Given the description of an element on the screen output the (x, y) to click on. 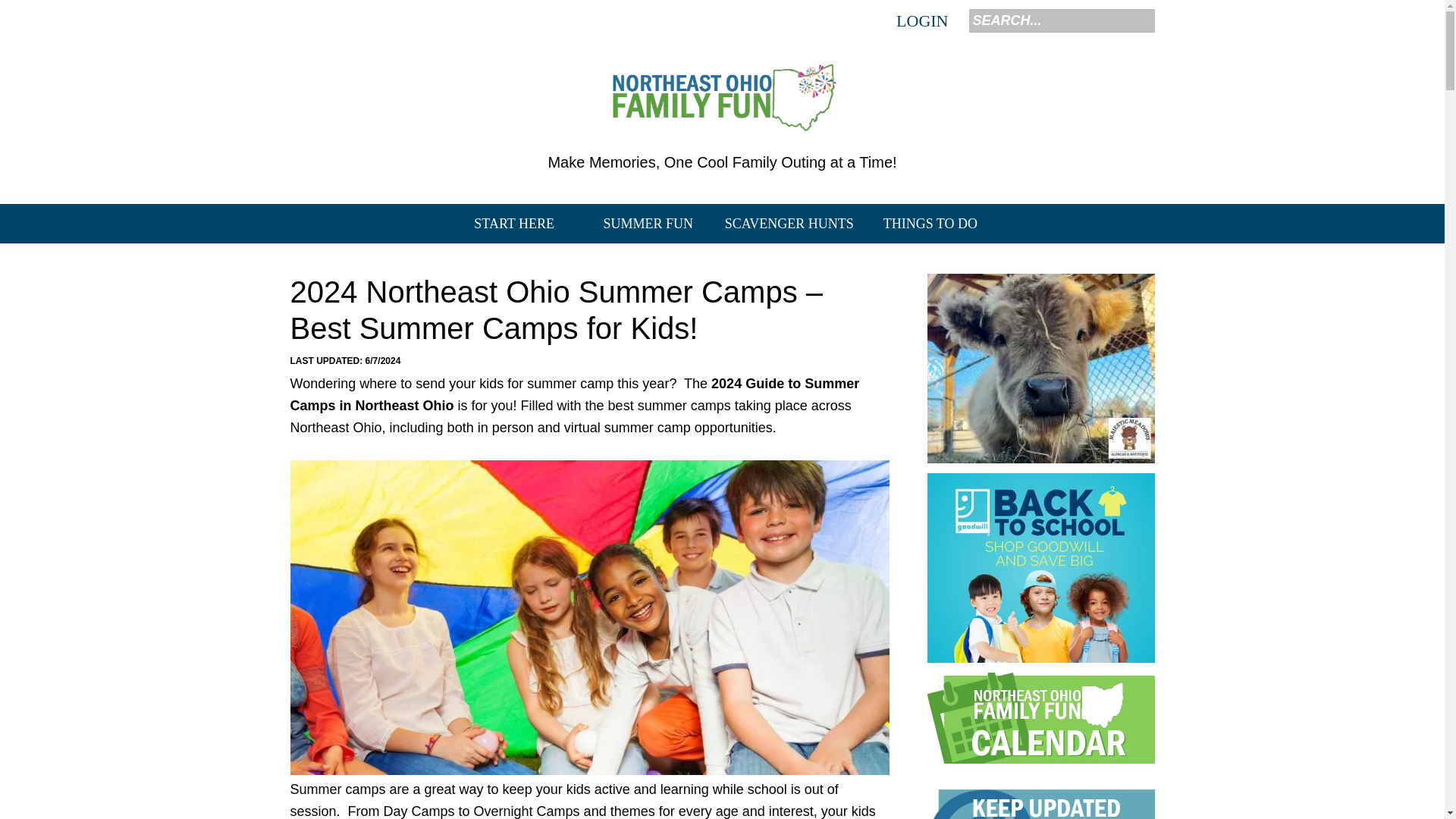
SCAVENGER HUNTS (789, 223)
START HERE (514, 223)
THINGS TO DO (929, 223)
LOGIN (921, 21)
Northeast Ohio Family Fun (721, 96)
SUMMER FUN (648, 223)
